Given the description of an element on the screen output the (x, y) to click on. 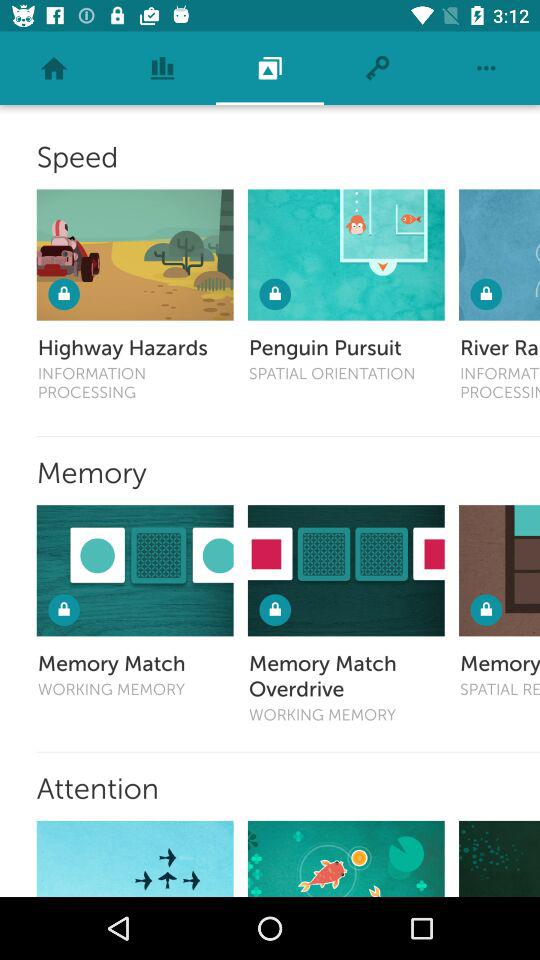
pick this game (134, 570)
